Given the description of an element on the screen output the (x, y) to click on. 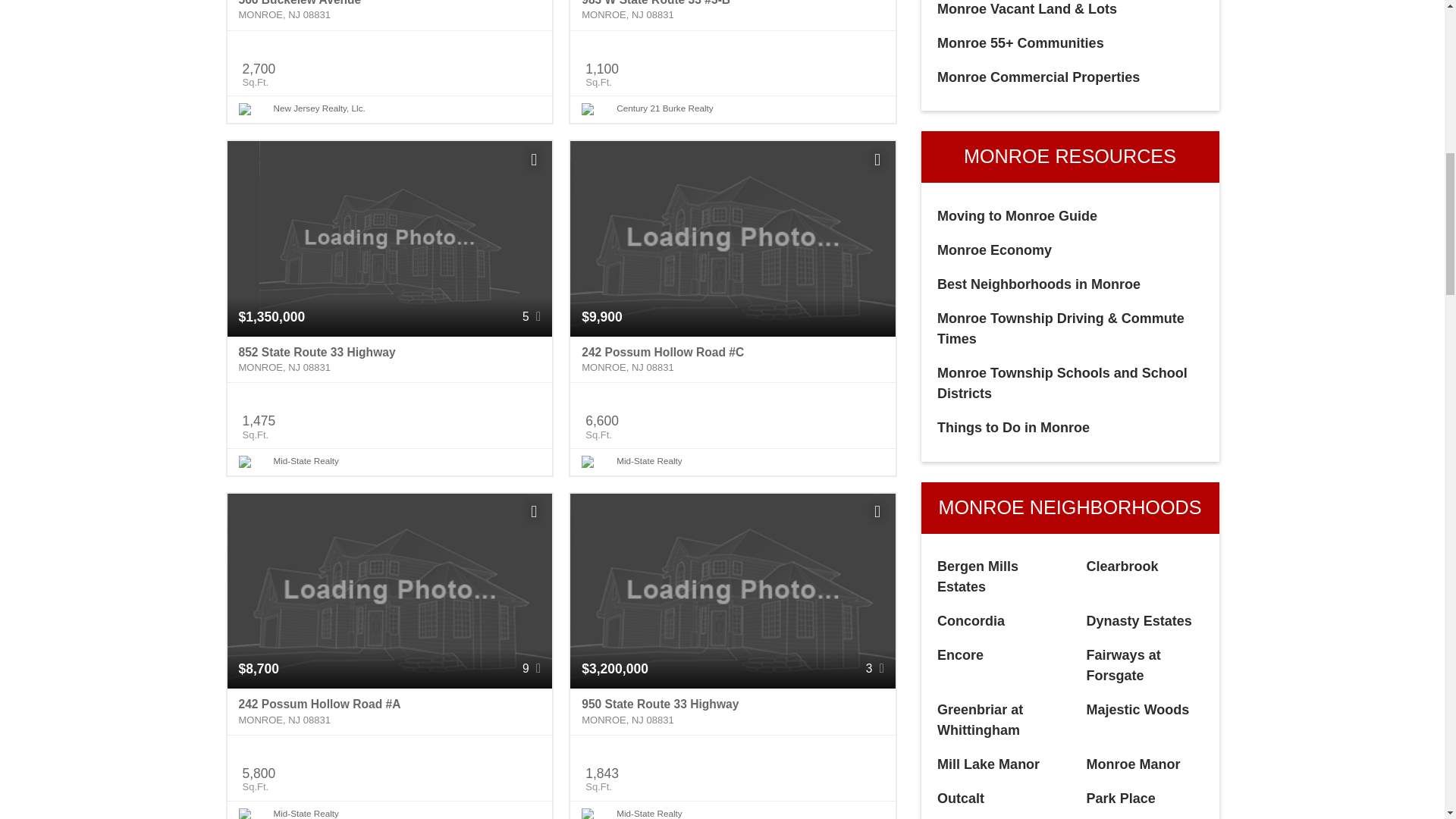
852 State Route 33 Highway Monroe,  NJ 08831 (390, 360)
566 Buckelew Avenue Monroe,  NJ 08831 (390, 15)
950 State Route 33 Highway Monroe,  NJ 08831 (732, 711)
